Given the description of an element on the screen output the (x, y) to click on. 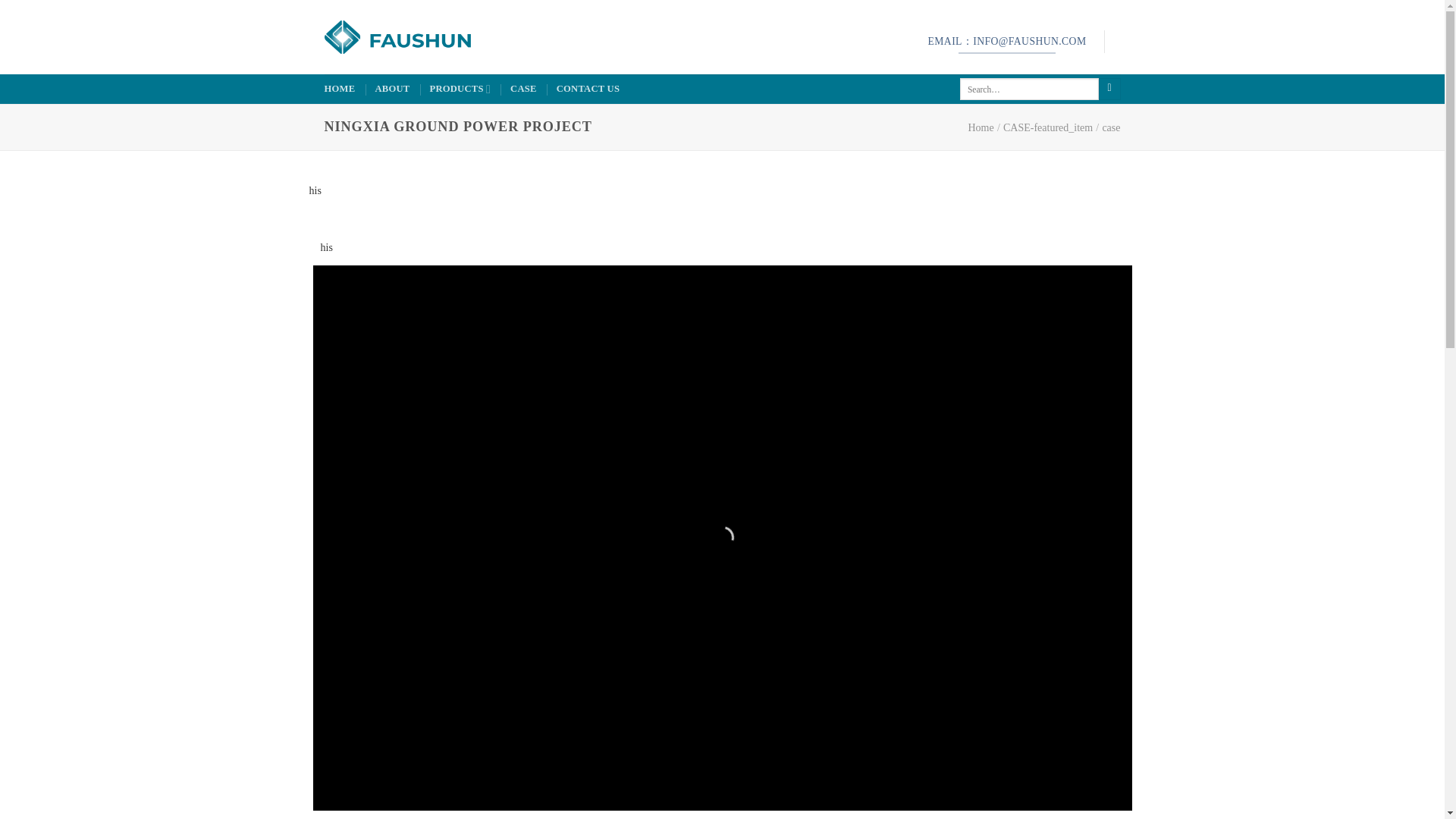
HOME (339, 89)
case (1110, 127)
Home (980, 127)
CASE (524, 89)
PRODUCTS (459, 89)
ABOUT (391, 89)
CONTACT US (588, 89)
Search (1110, 88)
